Given the description of an element on the screen output the (x, y) to click on. 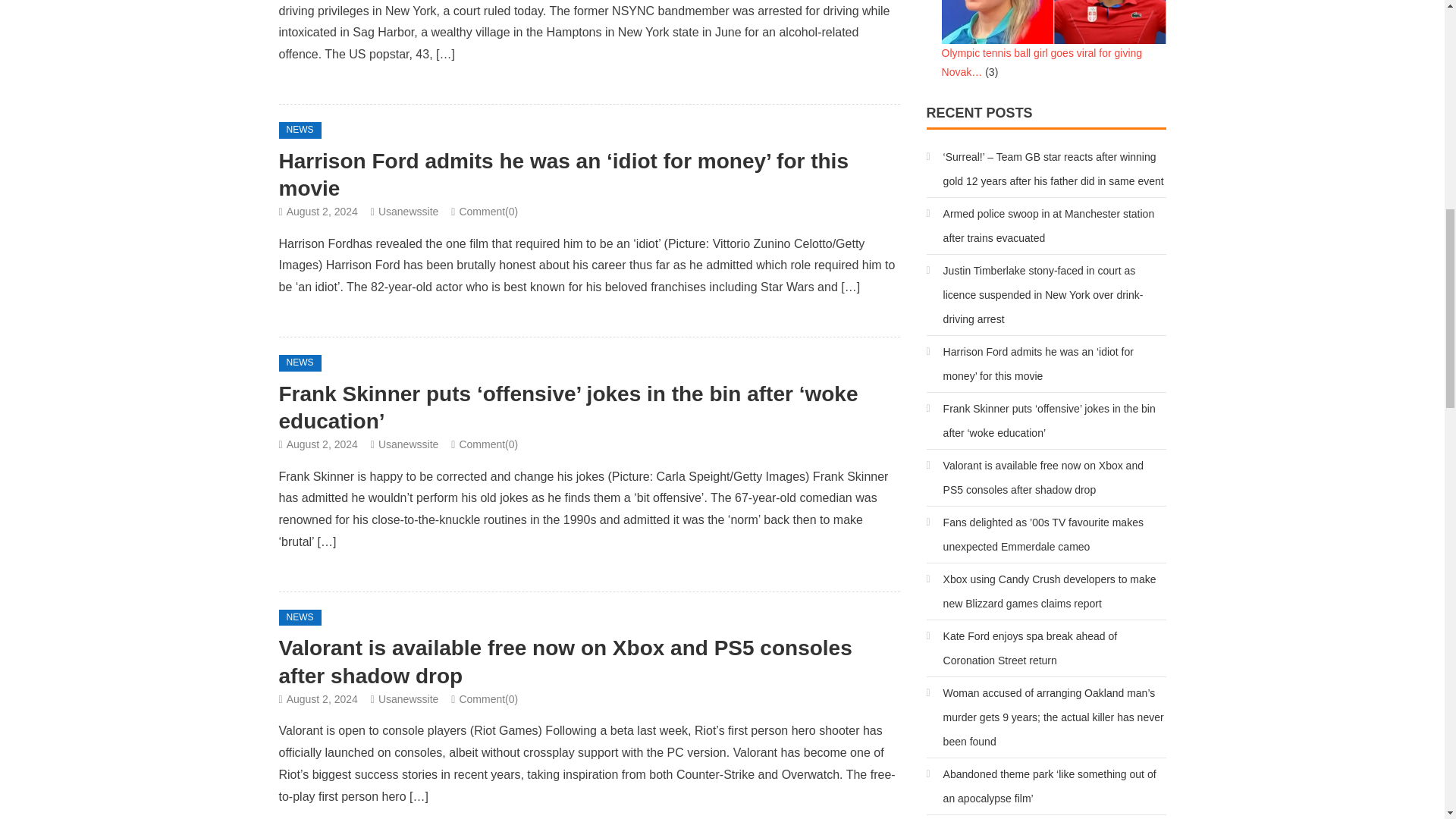
NEWS (300, 130)
Usanewssite (408, 211)
August 2, 2024 (322, 211)
